Given the description of an element on the screen output the (x, y) to click on. 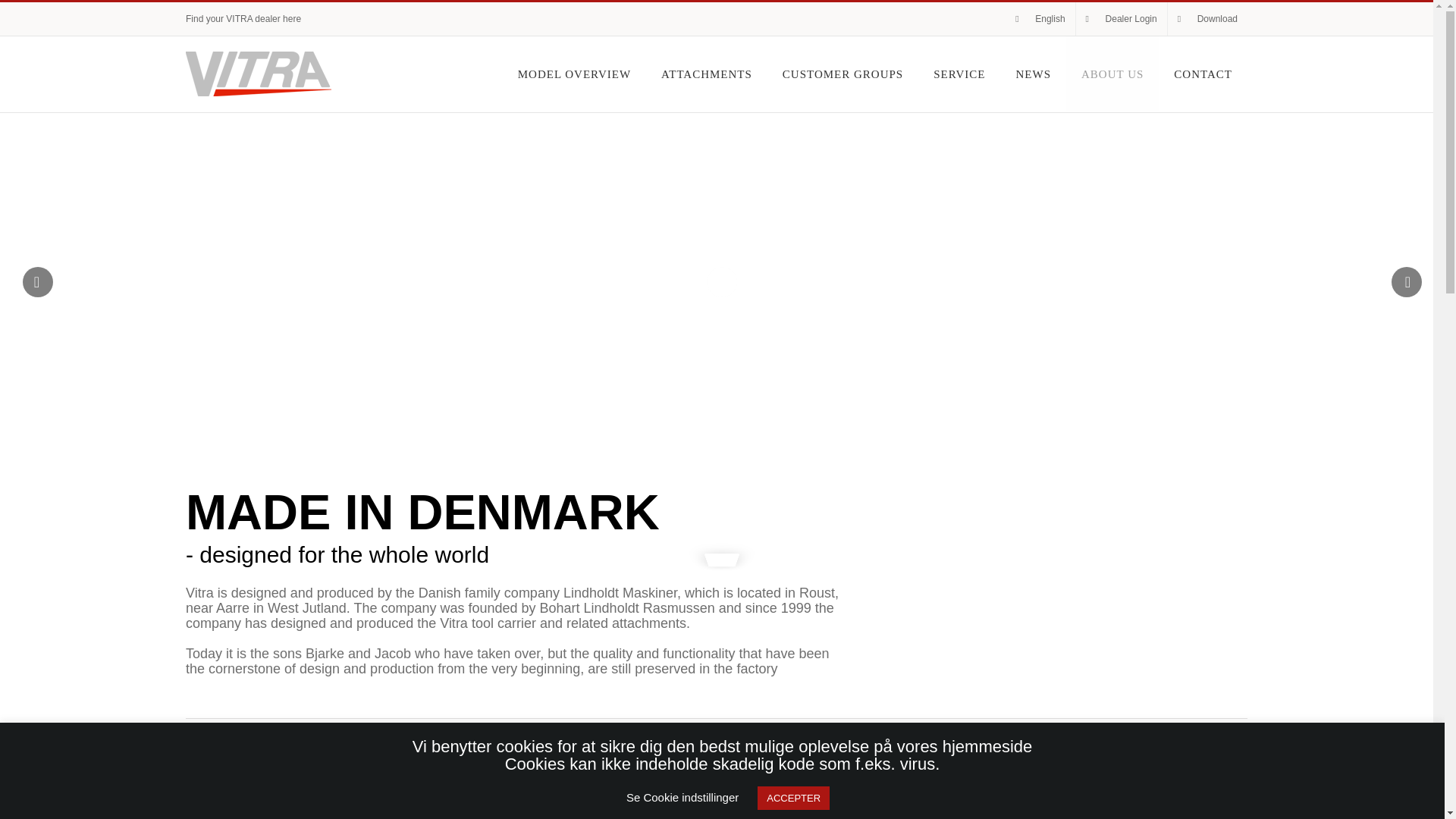
English (1040, 19)
ABOUT US (1111, 74)
SERVICE (959, 74)
ATTACHMENTS (706, 74)
Dealer Login (1121, 19)
MODEL OVERVIEW (574, 74)
Find your VITRA dealer here (243, 18)
Download (1207, 19)
CONTACT (1202, 74)
CUSTOMER GROUPS (842, 74)
